Given the description of an element on the screen output the (x, y) to click on. 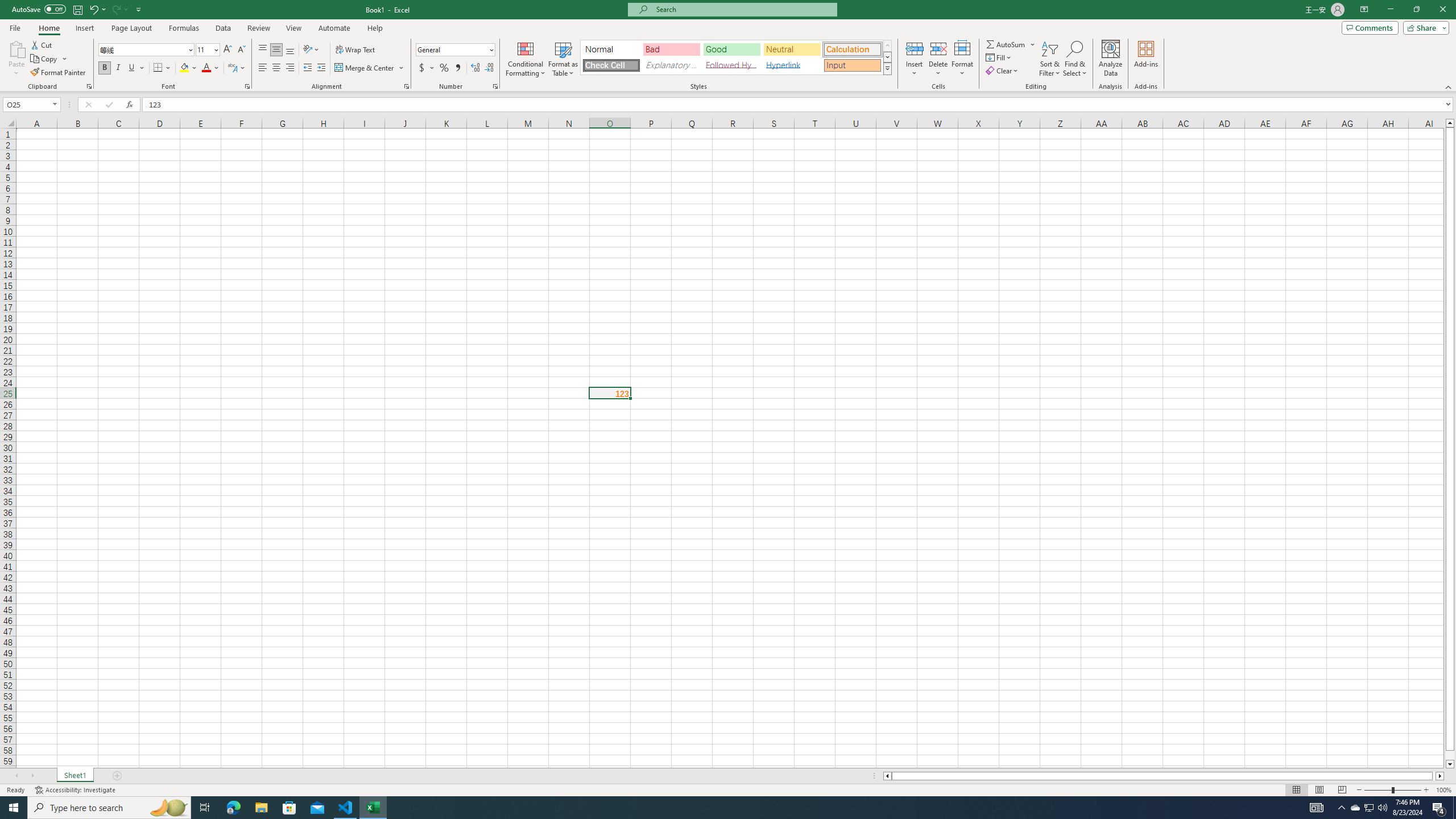
Format Cell Font (247, 85)
Underline (131, 67)
Good (731, 49)
Merge & Center (365, 67)
Insert Cells (914, 48)
Increase Indent (320, 67)
Number Format (455, 49)
Underline (136, 67)
